Given the description of an element on the screen output the (x, y) to click on. 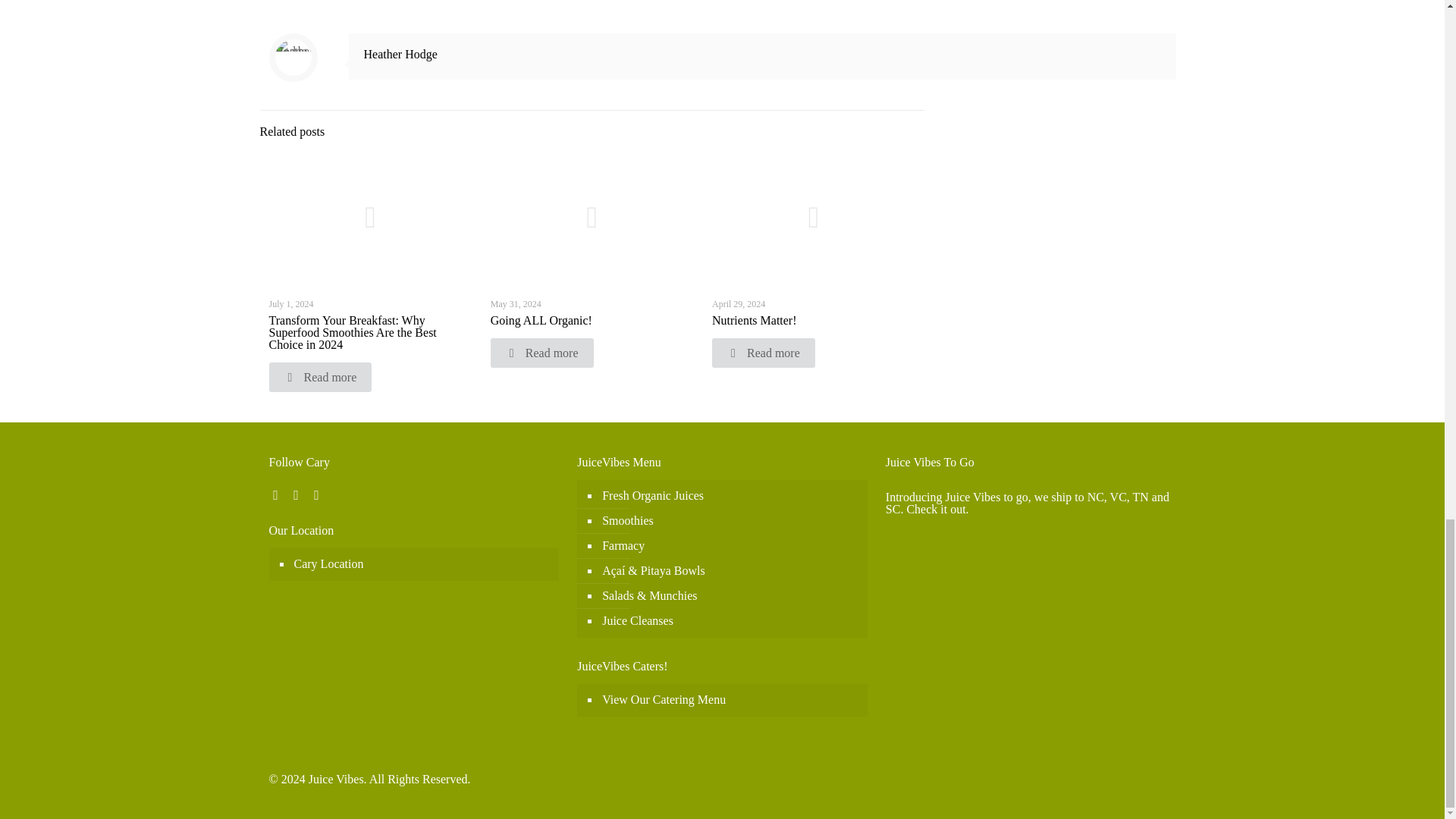
Read more (763, 352)
Nutrients Matter! (753, 319)
Heather Hodge (401, 53)
Going ALL Organic! (541, 319)
Read more (542, 352)
Cary Location (421, 564)
Farmacy (729, 545)
Smoothies (729, 520)
Fresh Organic Juices (729, 496)
Read more (319, 377)
